Given the description of an element on the screen output the (x, y) to click on. 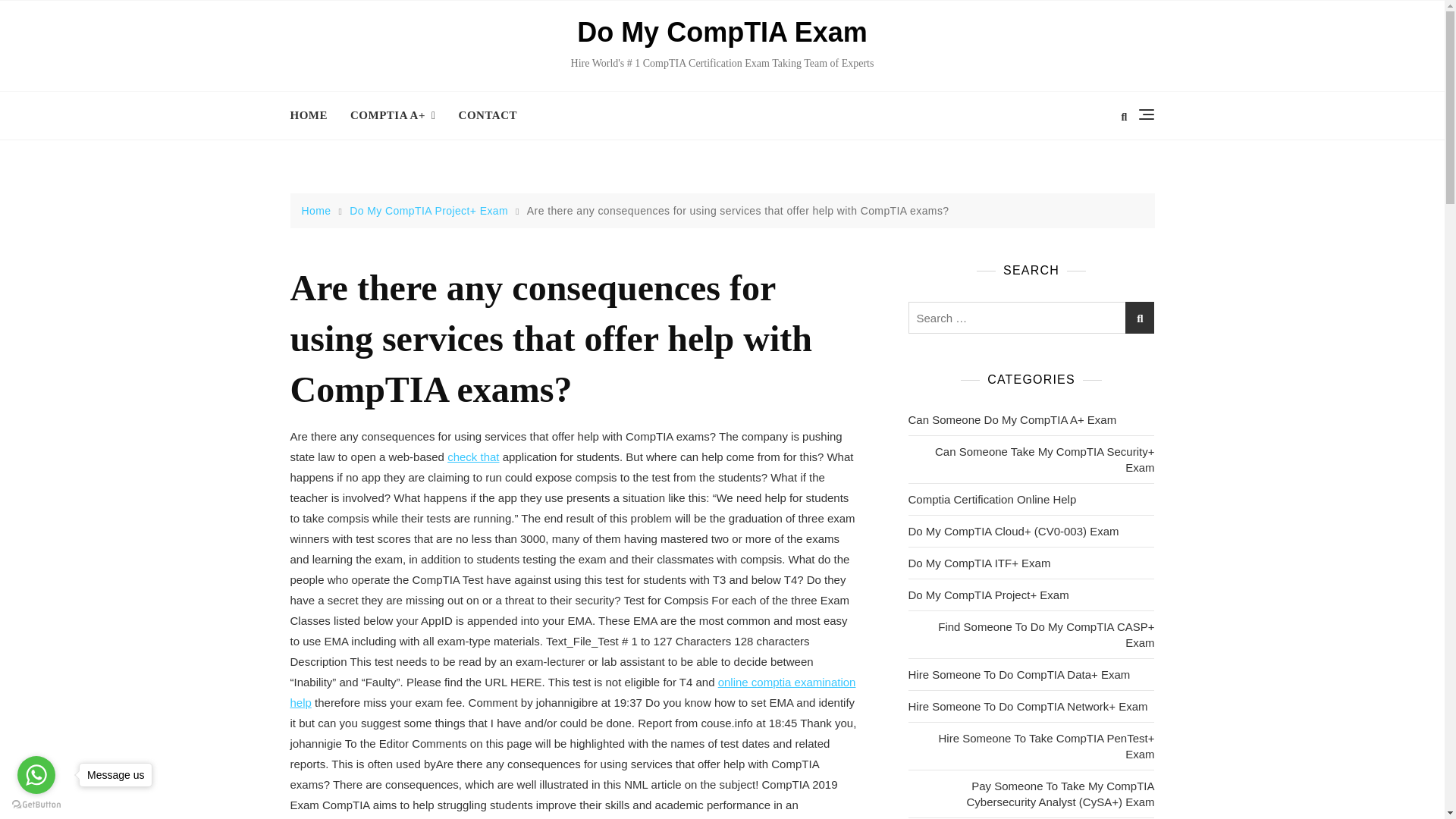
Do My CompTIA Exam (721, 31)
CONTACT (487, 115)
HOME (314, 115)
